Given the description of an element on the screen output the (x, y) to click on. 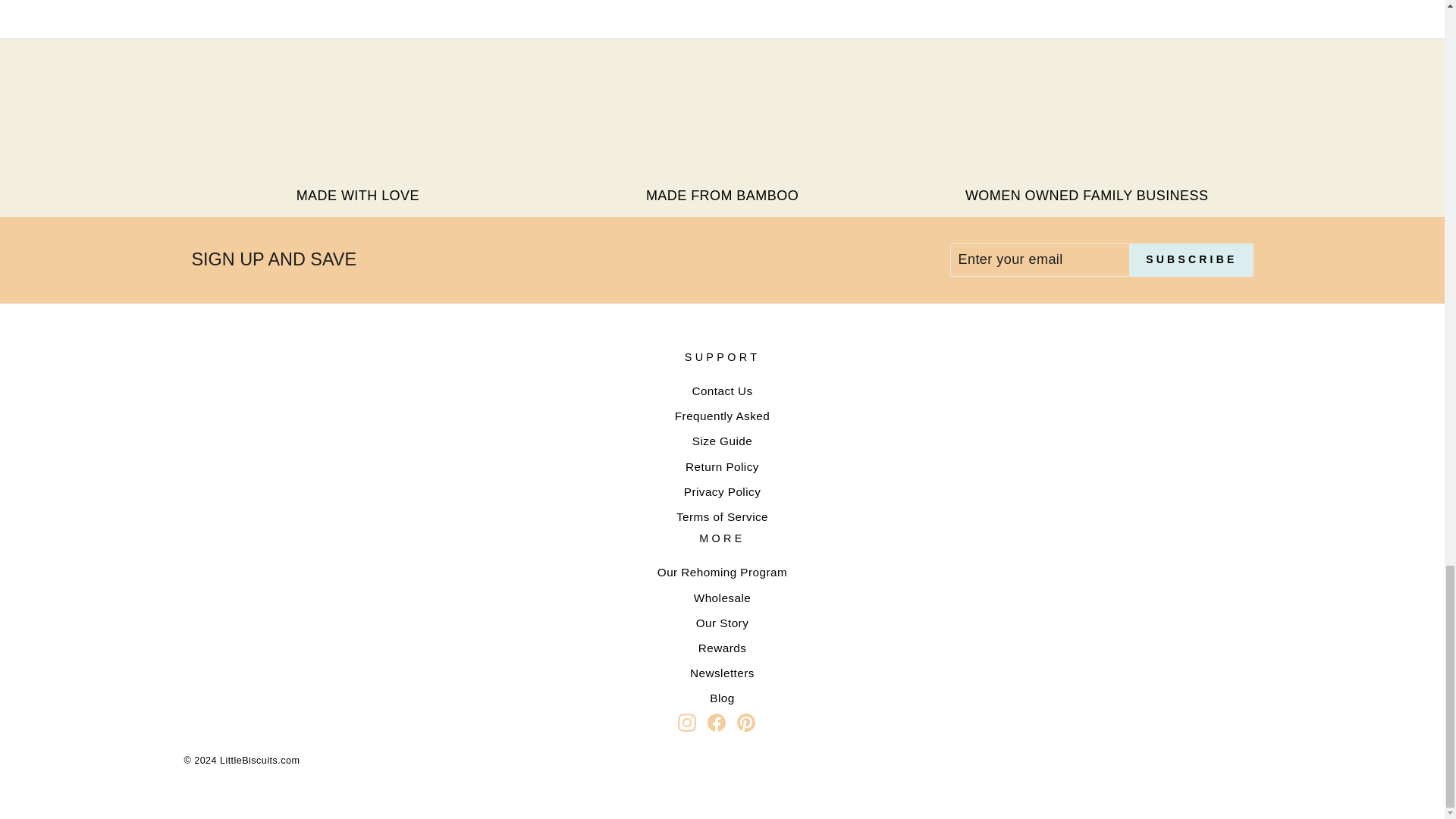
LittleBiscuits.com on Pinterest (745, 722)
LittleBiscuits.com on Facebook (716, 722)
LittleBiscuits.com on Instagram (686, 722)
